Given the description of an element on the screen output the (x, y) to click on. 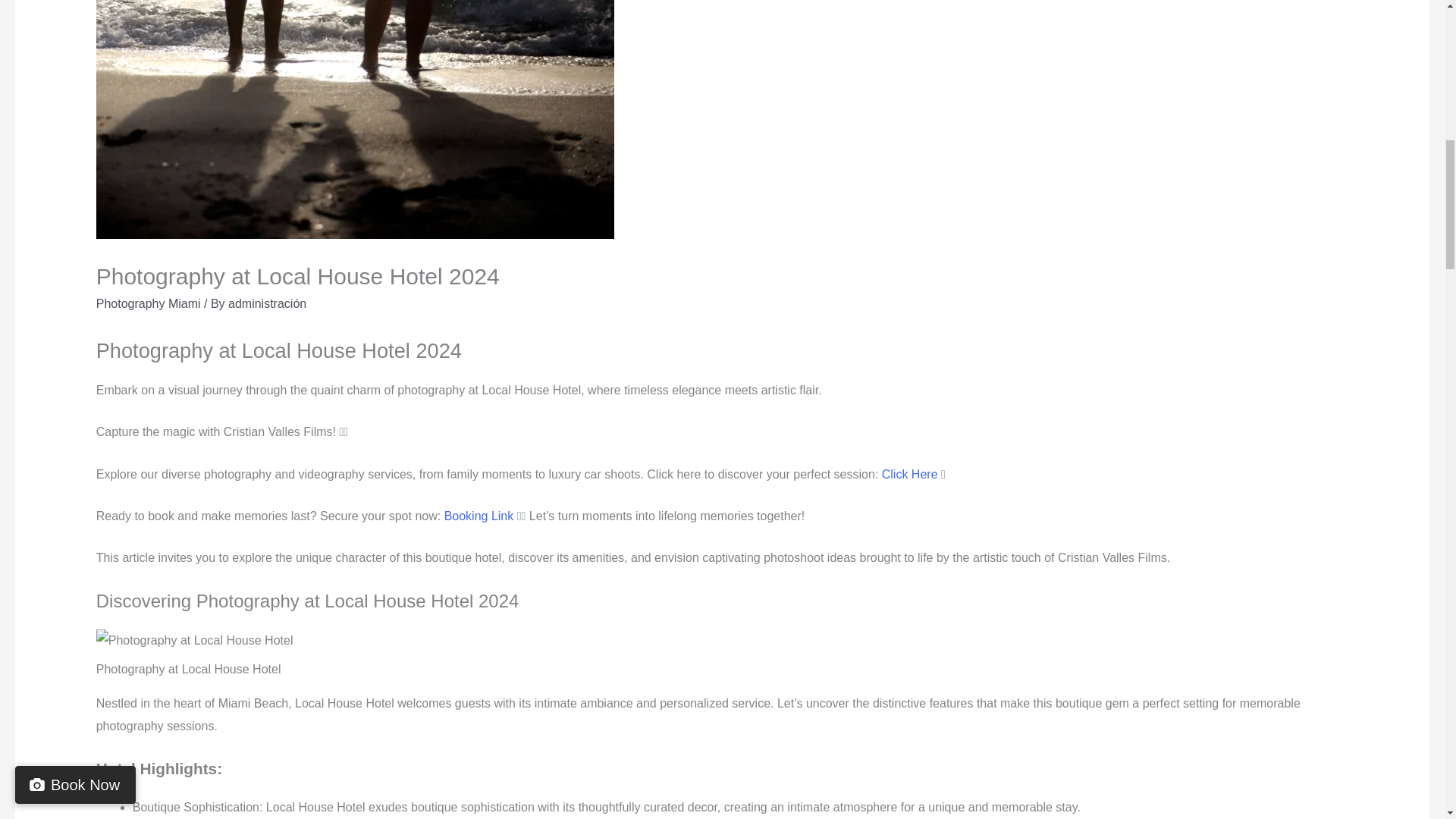
FareHarbor (1342, 64)
